Given the description of an element on the screen output the (x, y) to click on. 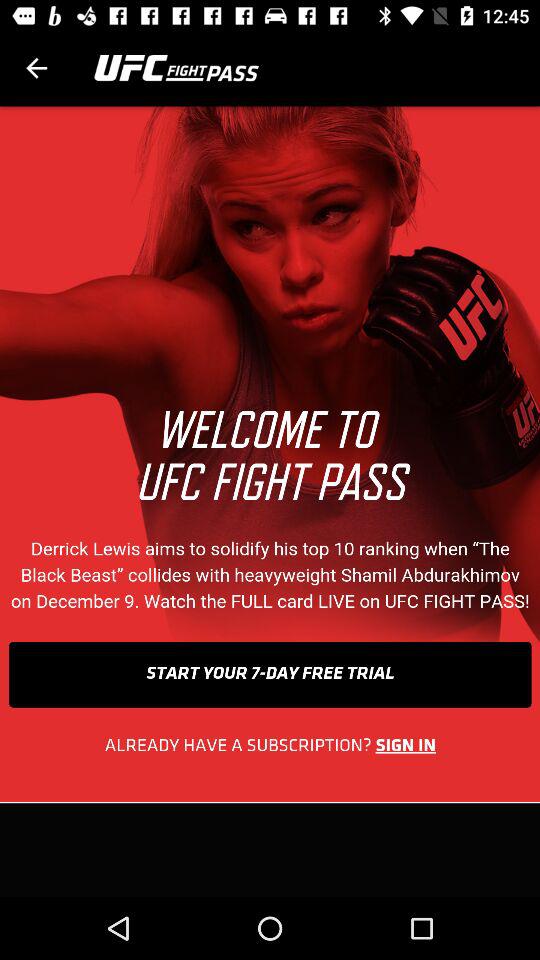
go to previous button (36, 68)
